Given the description of an element on the screen output the (x, y) to click on. 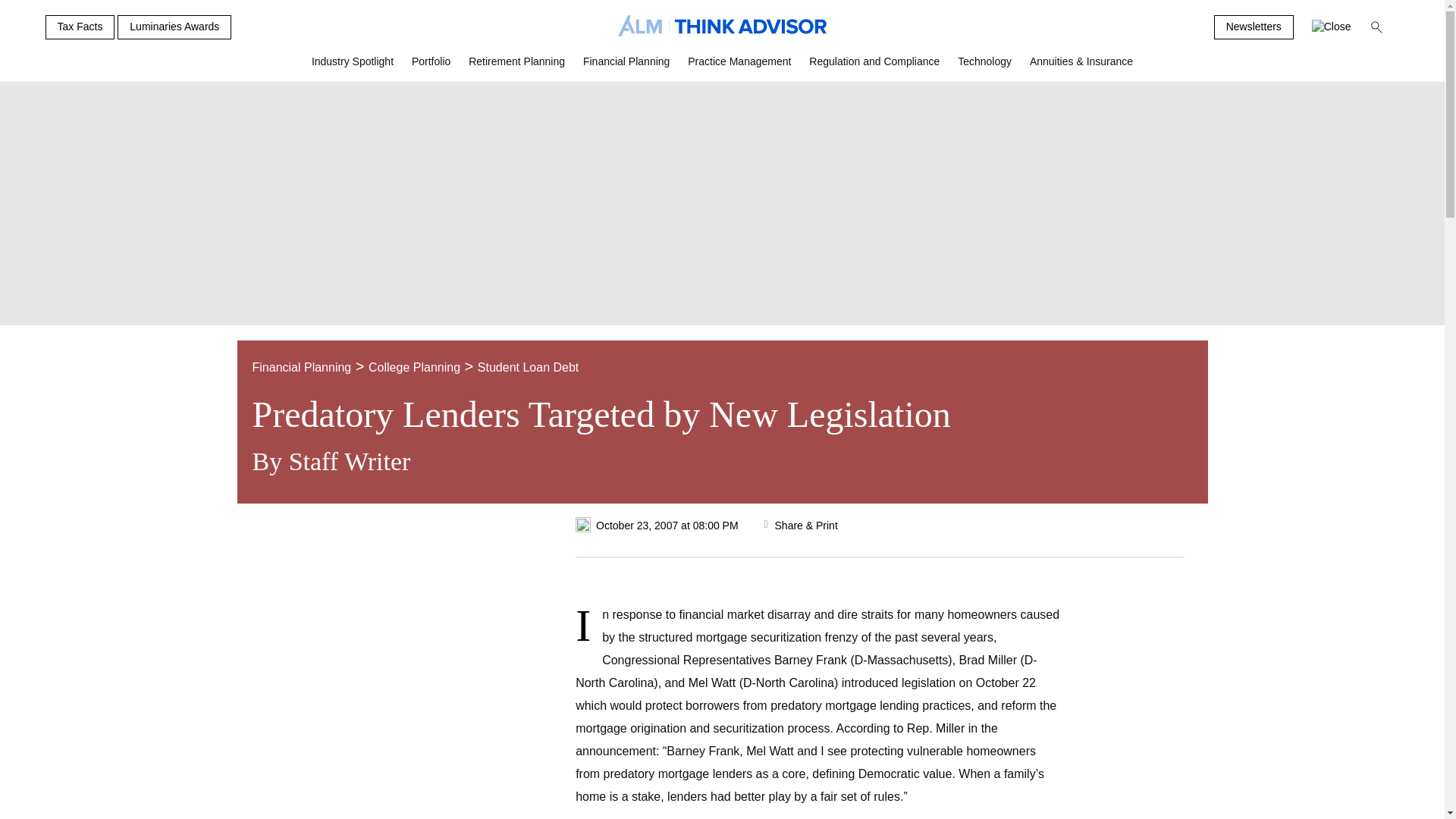
Luminaries Awards (174, 27)
Industry Spotlight (352, 67)
Newsletters (1254, 27)
Tax Facts (80, 27)
